Given the description of an element on the screen output the (x, y) to click on. 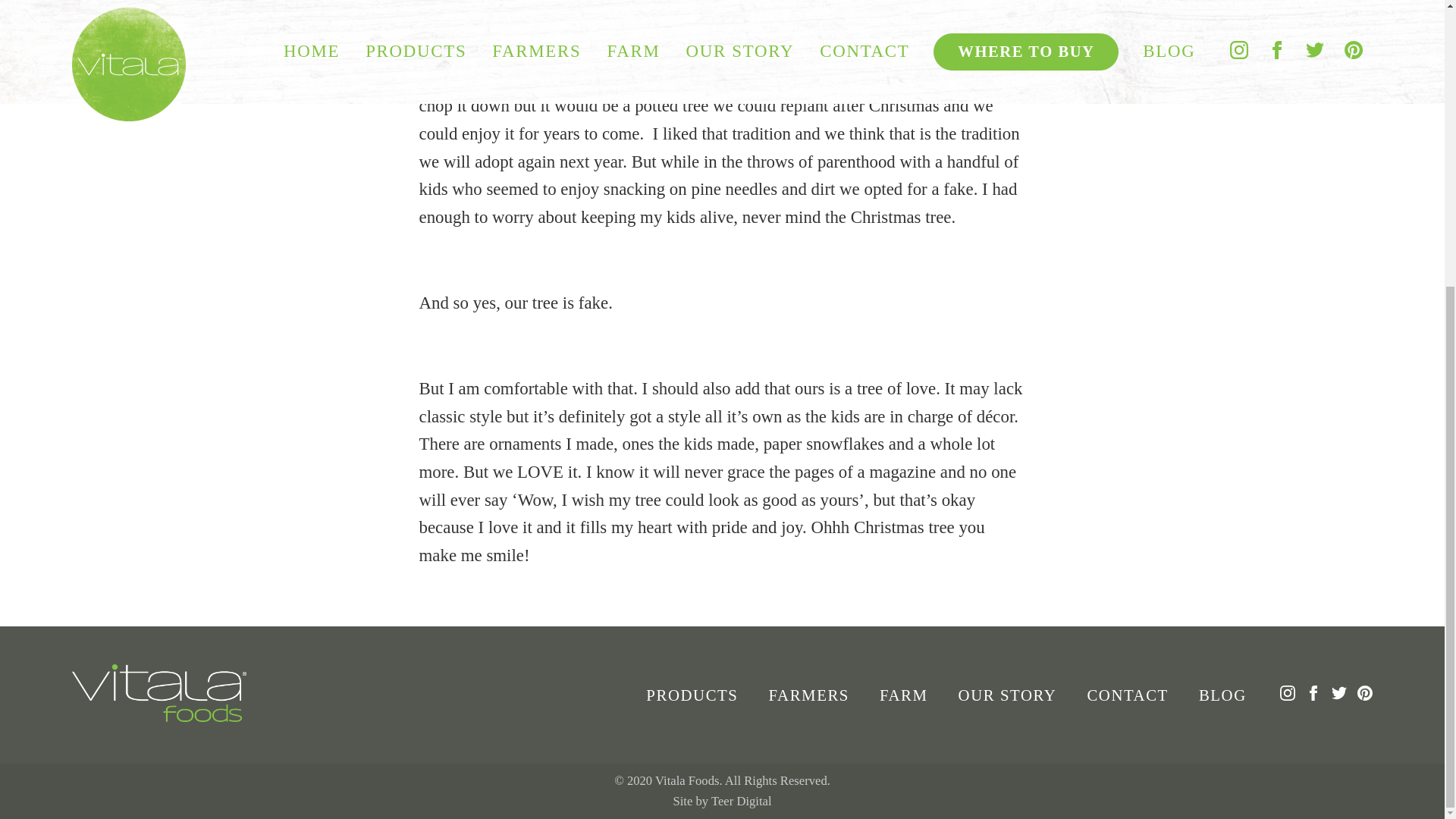
CONTACT (1126, 694)
Teer Digital (741, 800)
PRODUCTS (692, 694)
BLOG (1222, 694)
OUR STORY (1007, 694)
FARM (903, 694)
FARMERS (808, 694)
